Given the description of an element on the screen output the (x, y) to click on. 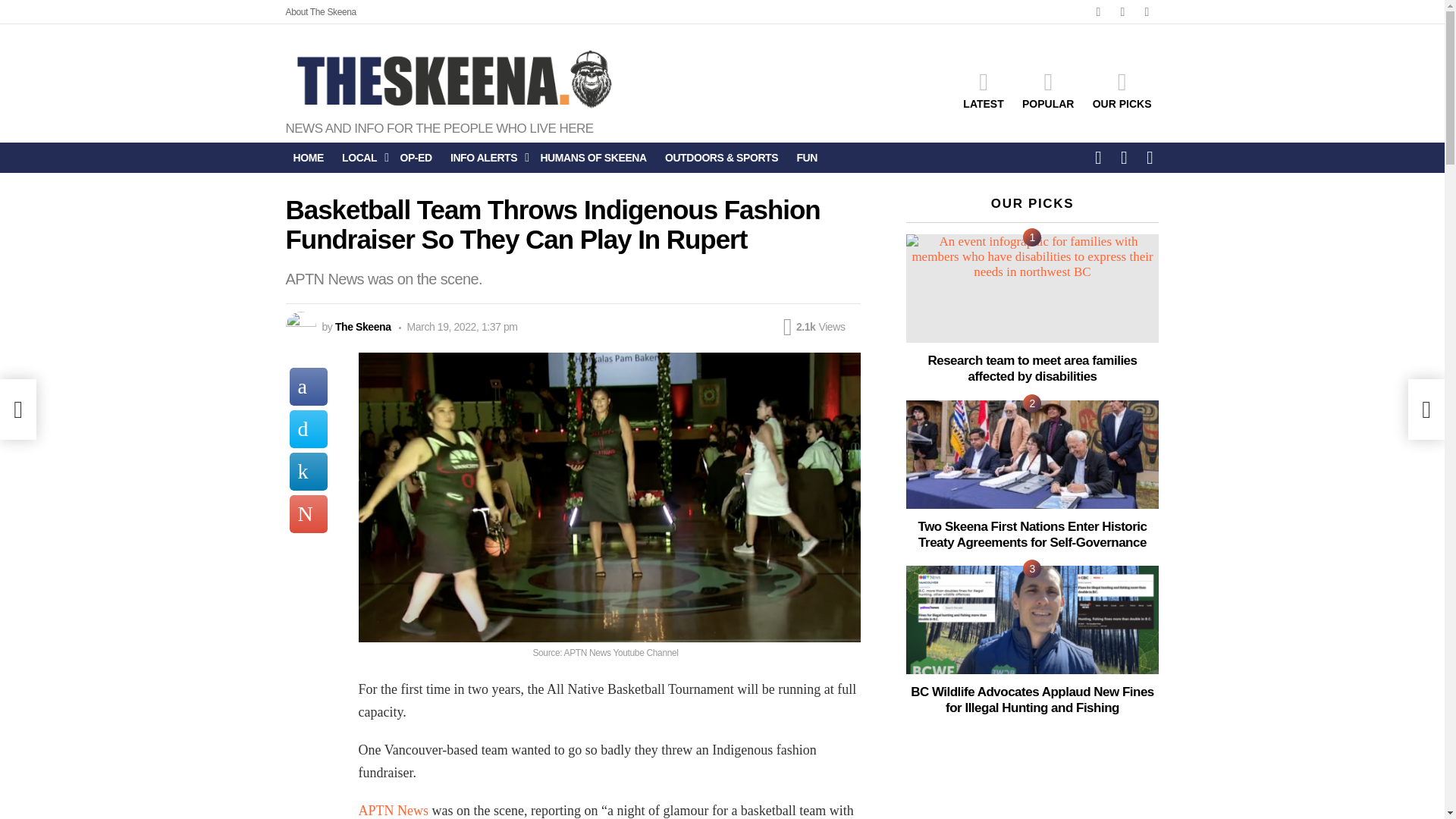
Posts by The Skeena (362, 326)
Share on LinkedIn (308, 471)
twitter (1121, 11)
HUMANS OF SKEENA (592, 157)
Share on Twitter (308, 428)
LOCAL (361, 157)
Share on Facebook (308, 386)
POPULAR (1047, 89)
OP-ED (415, 157)
